Given the description of an element on the screen output the (x, y) to click on. 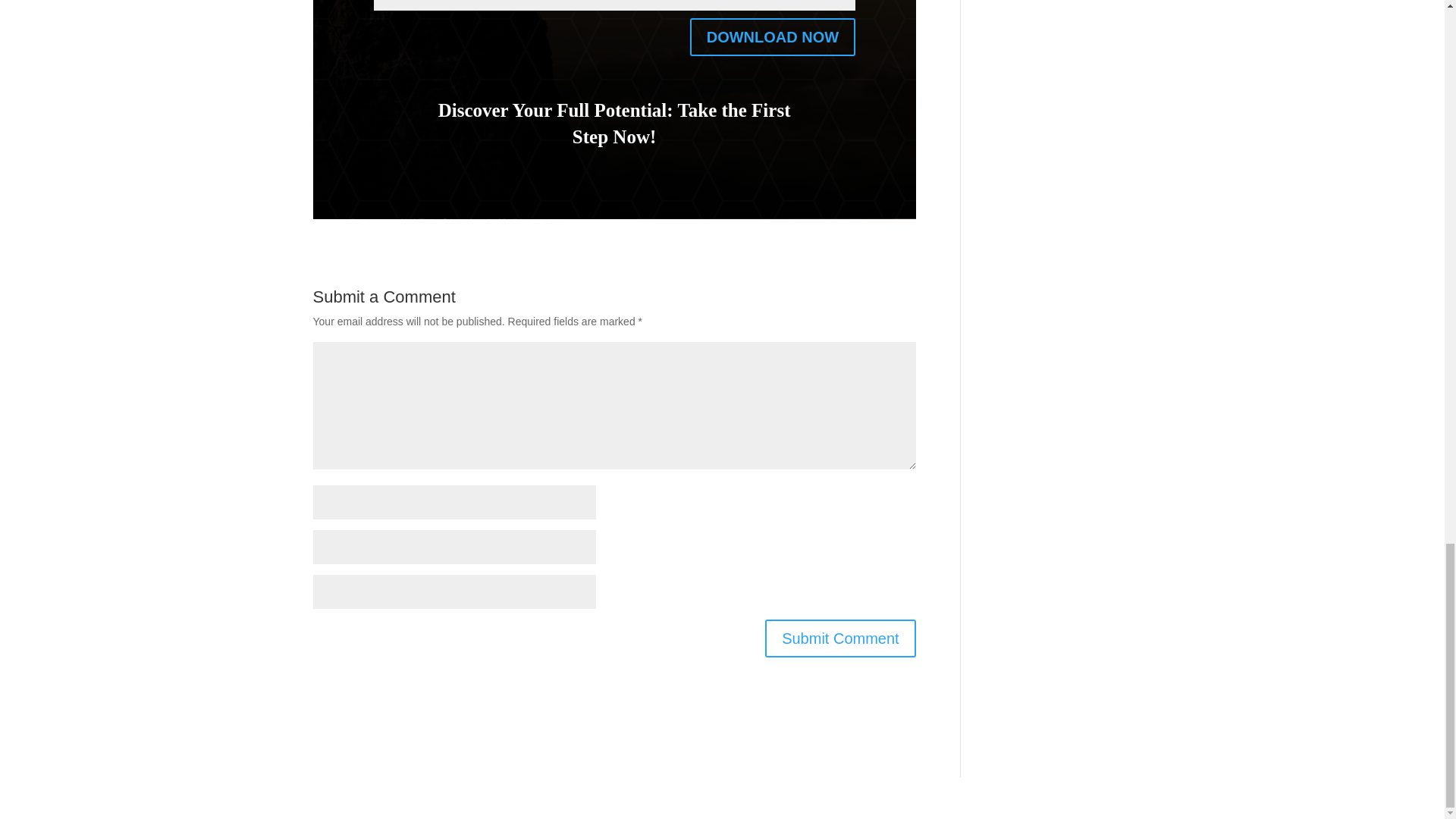
Submit Comment (840, 638)
Submit Comment (840, 638)
DOWNLOAD NOW (773, 37)
